Given the description of an element on the screen output the (x, y) to click on. 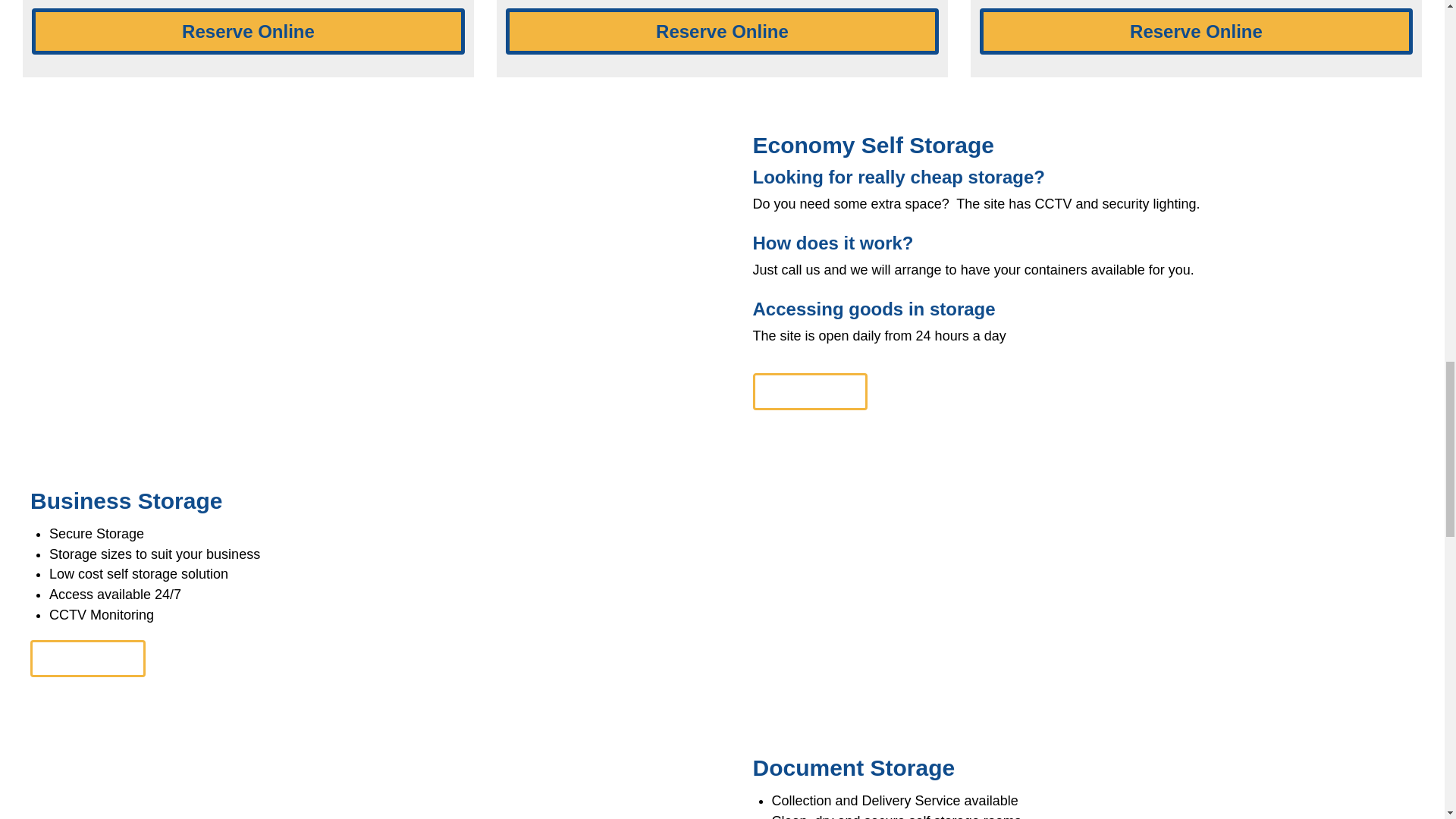
Reserve Online (1195, 31)
Reserve Online (722, 31)
Reserve Online (248, 31)
